Given the description of an element on the screen output the (x, y) to click on. 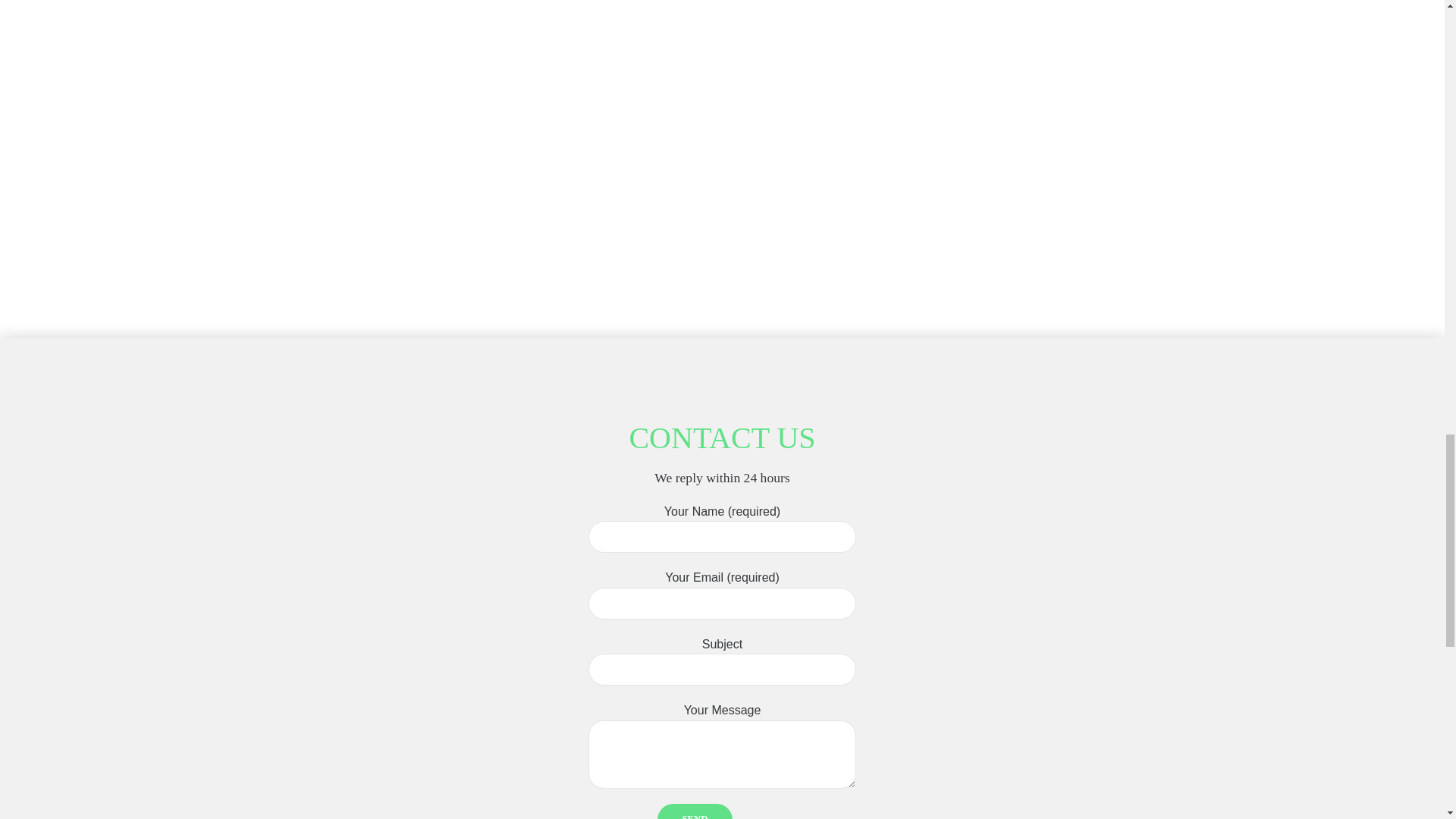
Send (695, 811)
Send (695, 811)
